Given the description of an element on the screen output the (x, y) to click on. 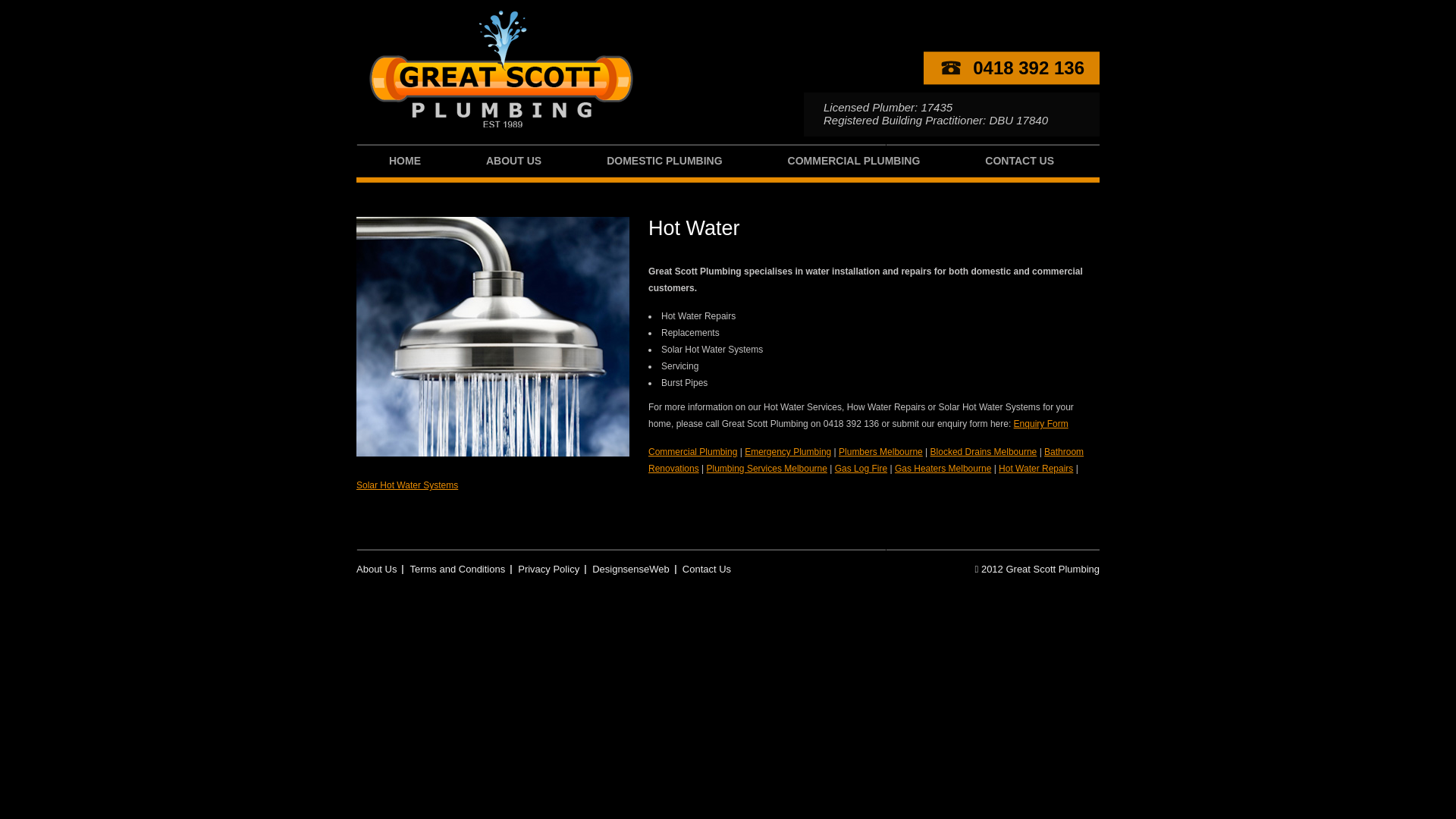
Plumbing Services Melbourne Element type: text (766, 468)
Gas Log Fire Element type: text (860, 468)
ABOUT US Element type: text (513, 163)
HOME Element type: text (404, 163)
DOMESTIC PLUMBING Element type: text (664, 163)
COMMERCIAL PLUMBING Element type: text (854, 163)
CONTACT US Element type: text (1019, 163)
About Us Element type: text (379, 569)
Hot Water Repairs Element type: text (1035, 468)
DesignsenseWeb Element type: text (631, 569)
Enquiry Form Element type: text (1040, 423)
Gas Heaters Melbourne Element type: text (942, 468)
Terms and Conditions Element type: text (457, 569)
Solar Hot Water Systems Element type: text (407, 485)
Emergency Plumbing Element type: text (787, 451)
Bathroom Renovations Element type: text (865, 459)
Contact Us Element type: text (706, 569)
Privacy Policy Element type: text (548, 569)
Commercial Plumbing Element type: text (692, 451)
Plumbers Melbourne Element type: text (880, 451)
Blocked Drains Melbourne Element type: text (983, 451)
